Given the description of an element on the screen output the (x, y) to click on. 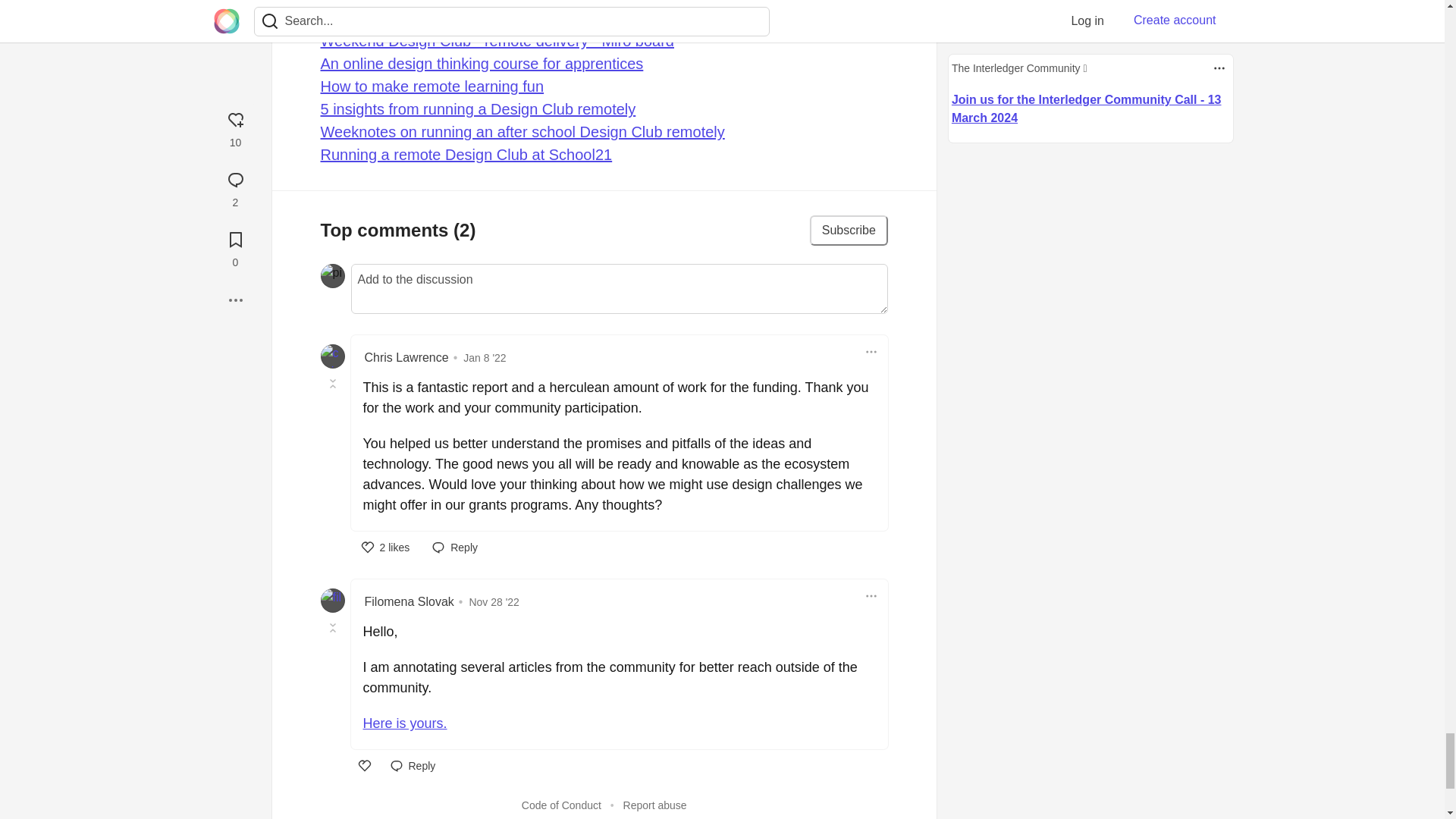
Dropdown menu (870, 596)
Saturday, January 8, 2022 at 2:07:44 AM (484, 357)
Dropdown menu (870, 352)
Monday, November 28, 2022 at 11:00:40 PM (493, 602)
